Given the description of an element on the screen output the (x, y) to click on. 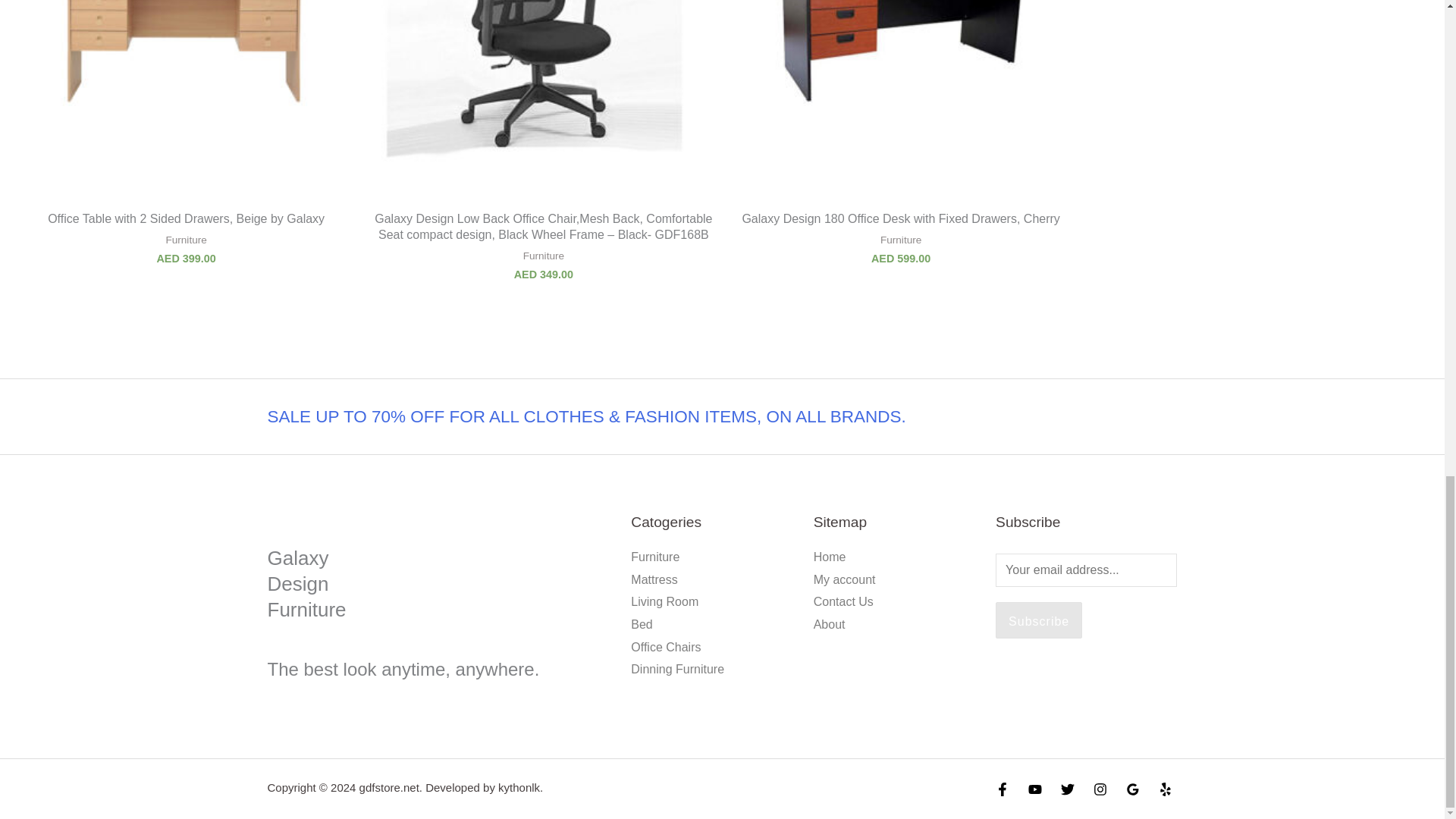
Office Table with 2 Sided Drawers, Beige by Galaxy (185, 219)
